Given the description of an element on the screen output the (x, y) to click on. 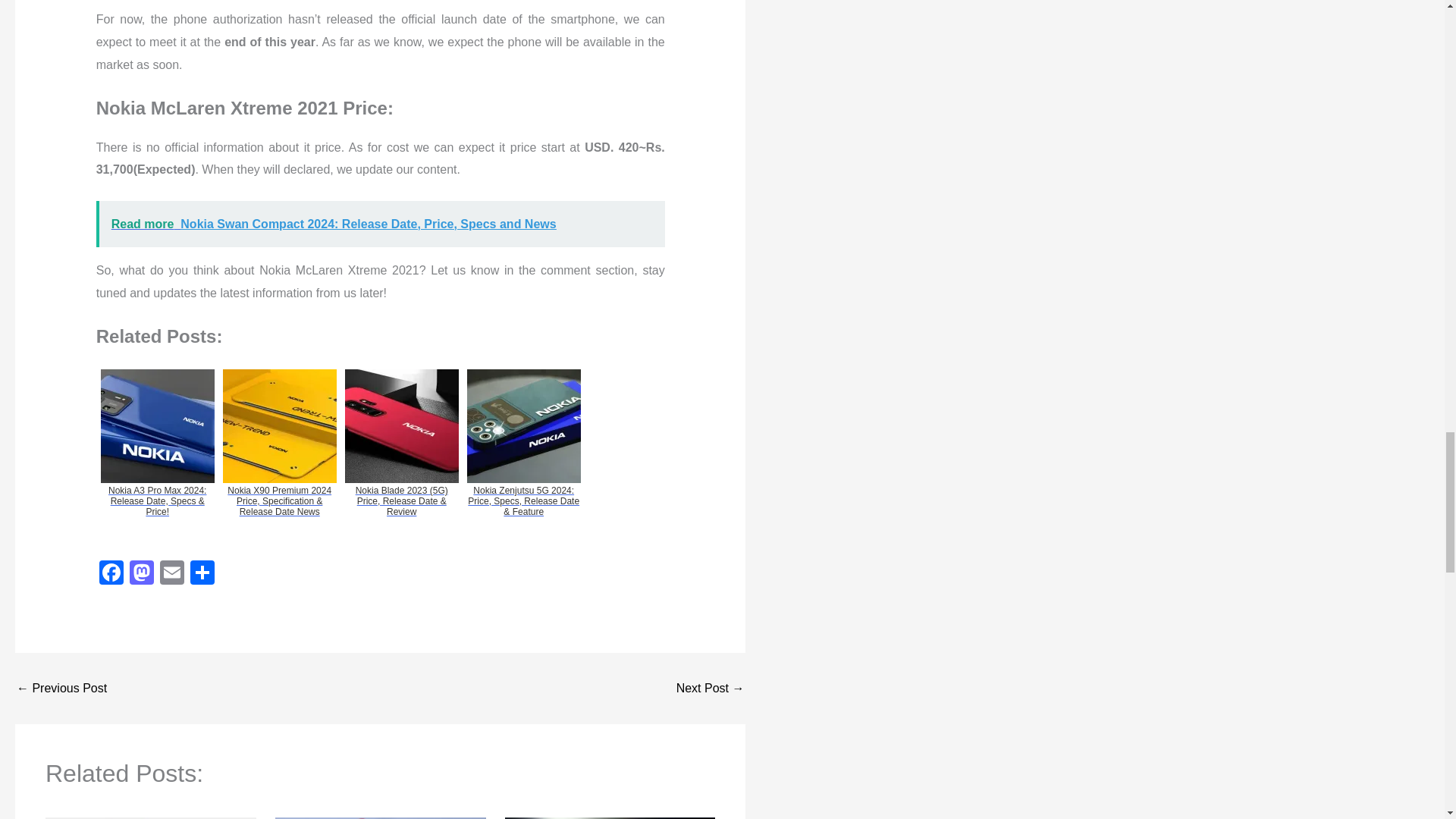
Mastodon (141, 574)
Mastodon (141, 574)
Email (172, 574)
Facebook (111, 574)
Email (172, 574)
Facebook (111, 574)
